Given the description of an element on the screen output the (x, y) to click on. 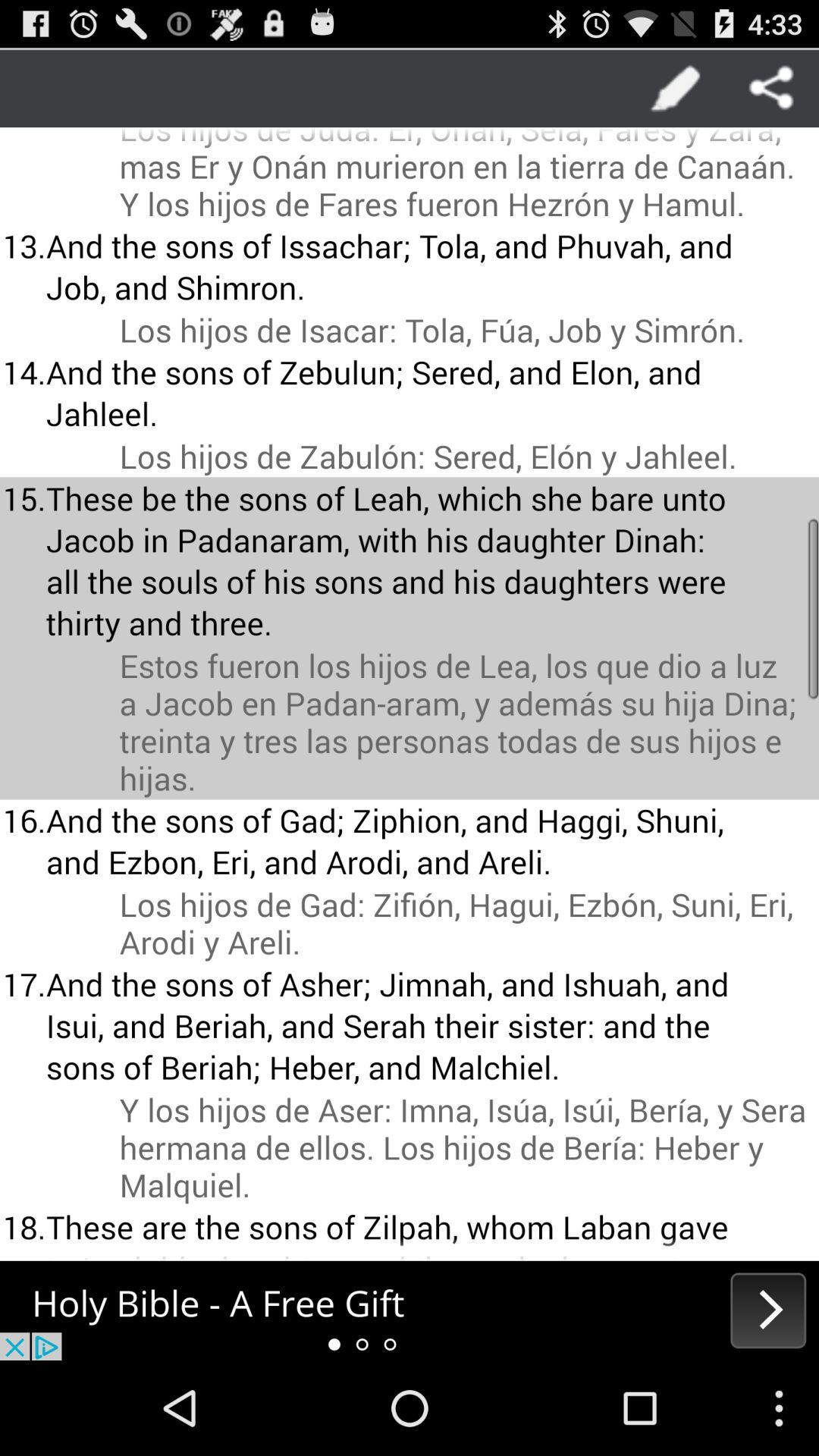
go to beginning of article (409, 1310)
